Given the description of an element on the screen output the (x, y) to click on. 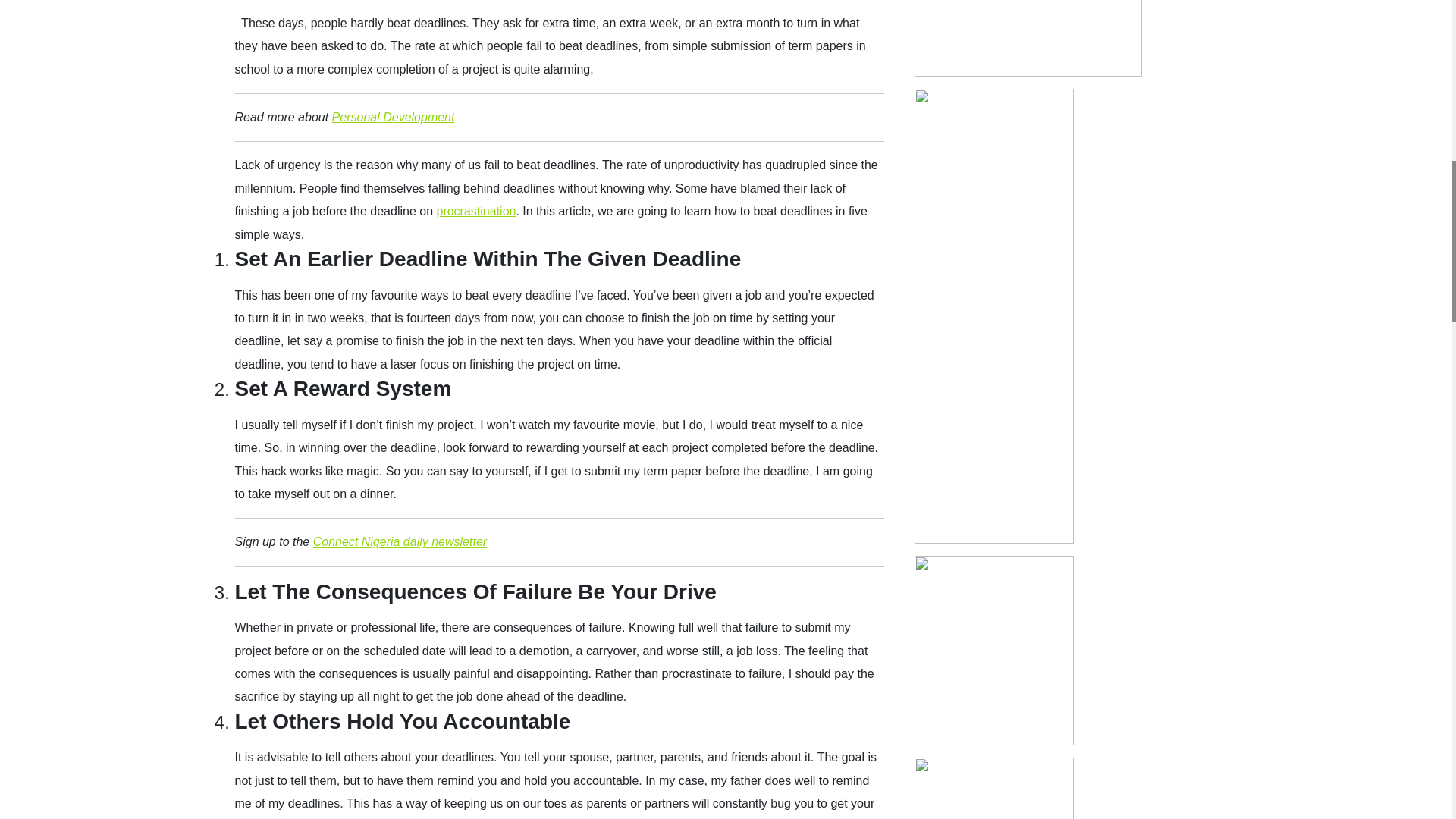
procrastination (475, 210)
Connect Nigeria daily newsletter (399, 541)
Personal Development (392, 116)
